Given the description of an element on the screen output the (x, y) to click on. 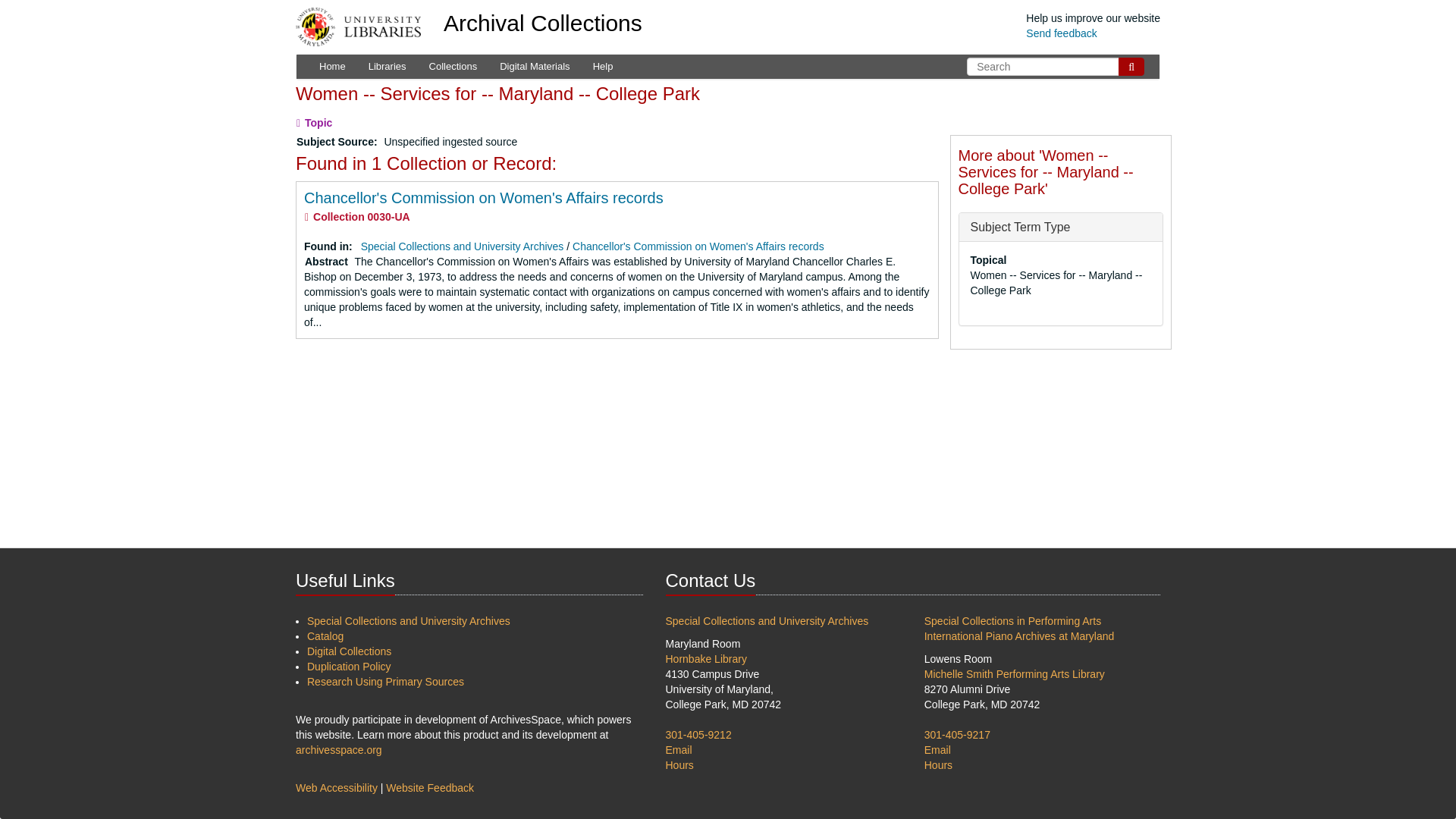
Collections (453, 66)
Catalog (325, 635)
Digital Collections (349, 651)
Page Actions (986, 87)
Hours (938, 765)
Special Collections and University Archives (462, 246)
Duplication Policy (349, 666)
Return to the ArchivesSpace homepage (543, 23)
Help (602, 66)
Search The Archives (1131, 66)
Research Using Primary Sources (385, 681)
Digital Materials (533, 66)
Archival Collections (543, 23)
Info about web accessibility at UMD (336, 787)
Email (679, 749)
